Given the description of an element on the screen output the (x, y) to click on. 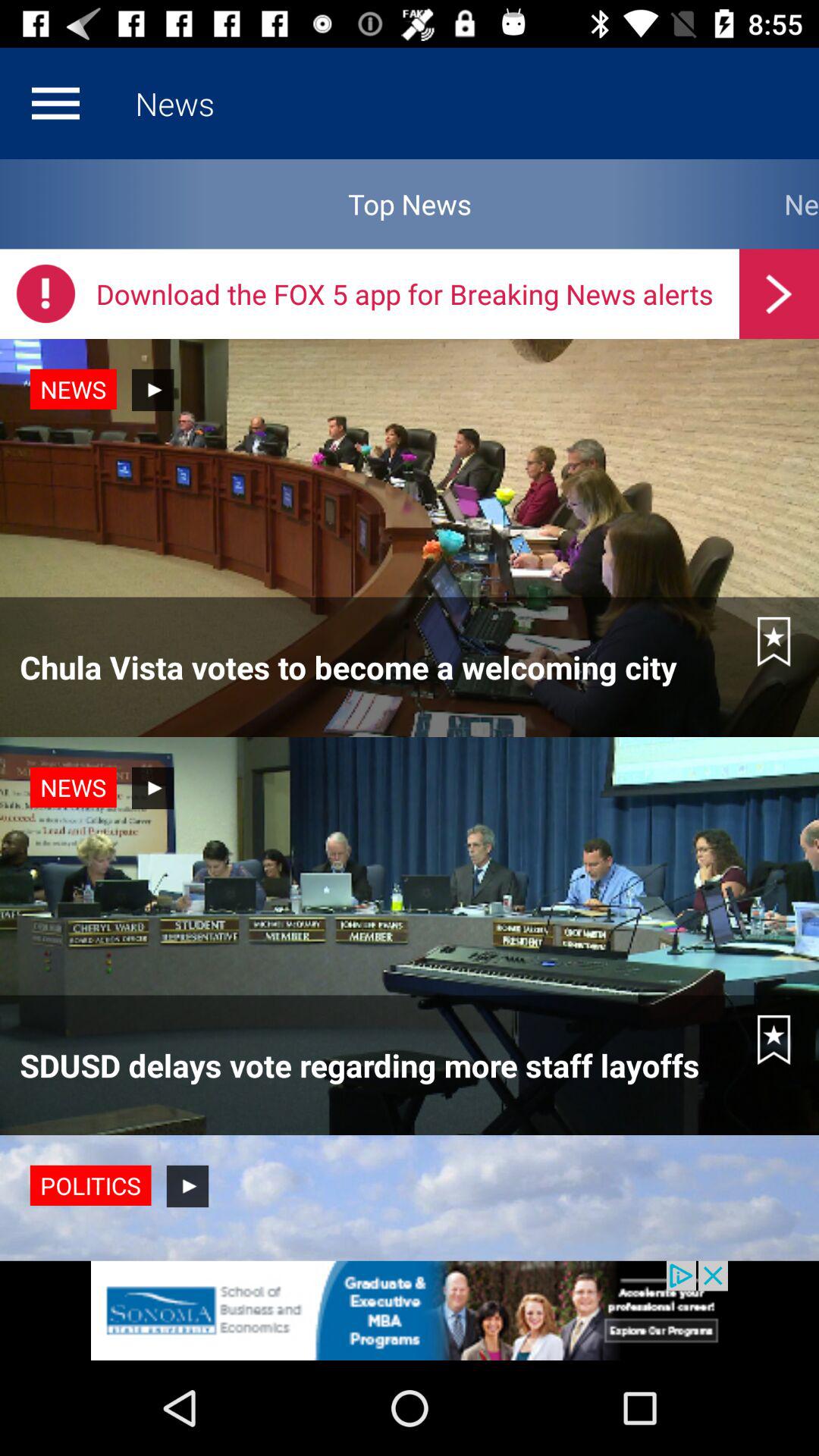
home option (55, 103)
